Given the description of an element on the screen output the (x, y) to click on. 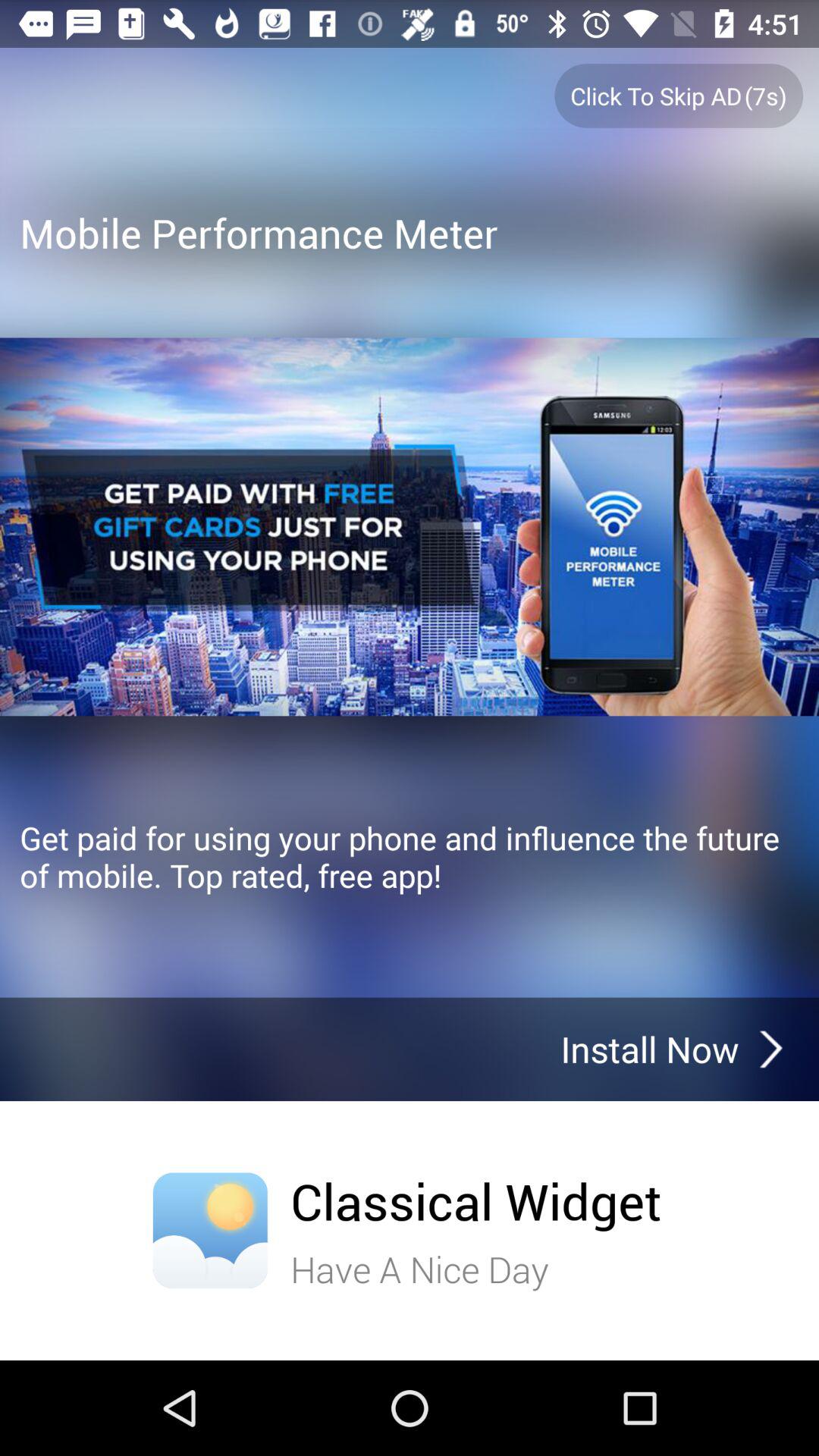
select the click to skip ad7s button (678, 96)
